Given the description of an element on the screen output the (x, y) to click on. 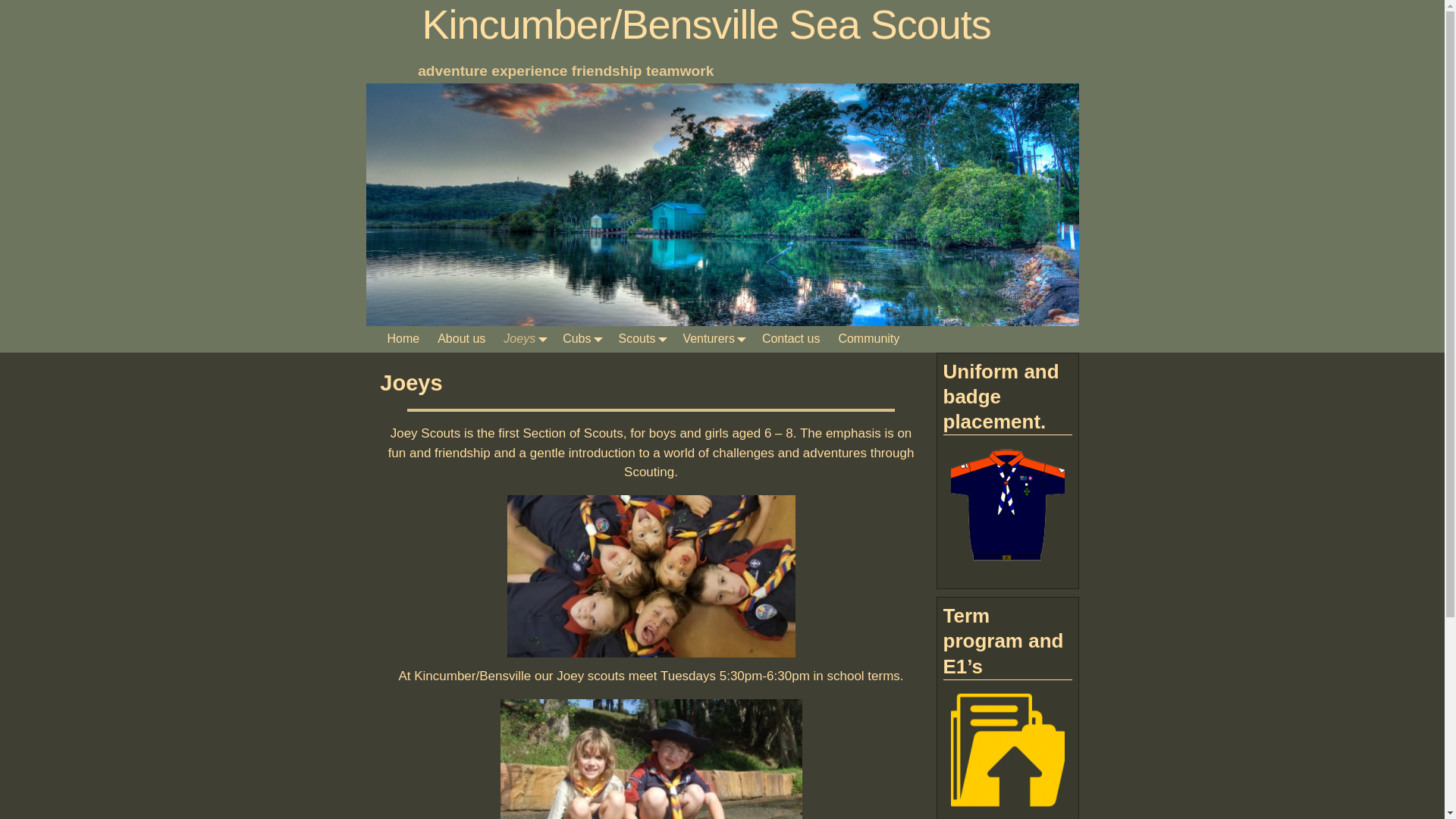
About us Element type: text (461, 339)
Scouts Element type: text (641, 339)
Venturers Element type: text (712, 339)
Cubs Element type: text (580, 339)
Kincumber/Bensville Sea Scouts Element type: text (706, 24)
Home Element type: text (402, 339)
Joeys Element type: text (523, 339)
Contact us Element type: text (790, 339)
Community Element type: text (868, 339)
